Given the description of an element on the screen output the (x, y) to click on. 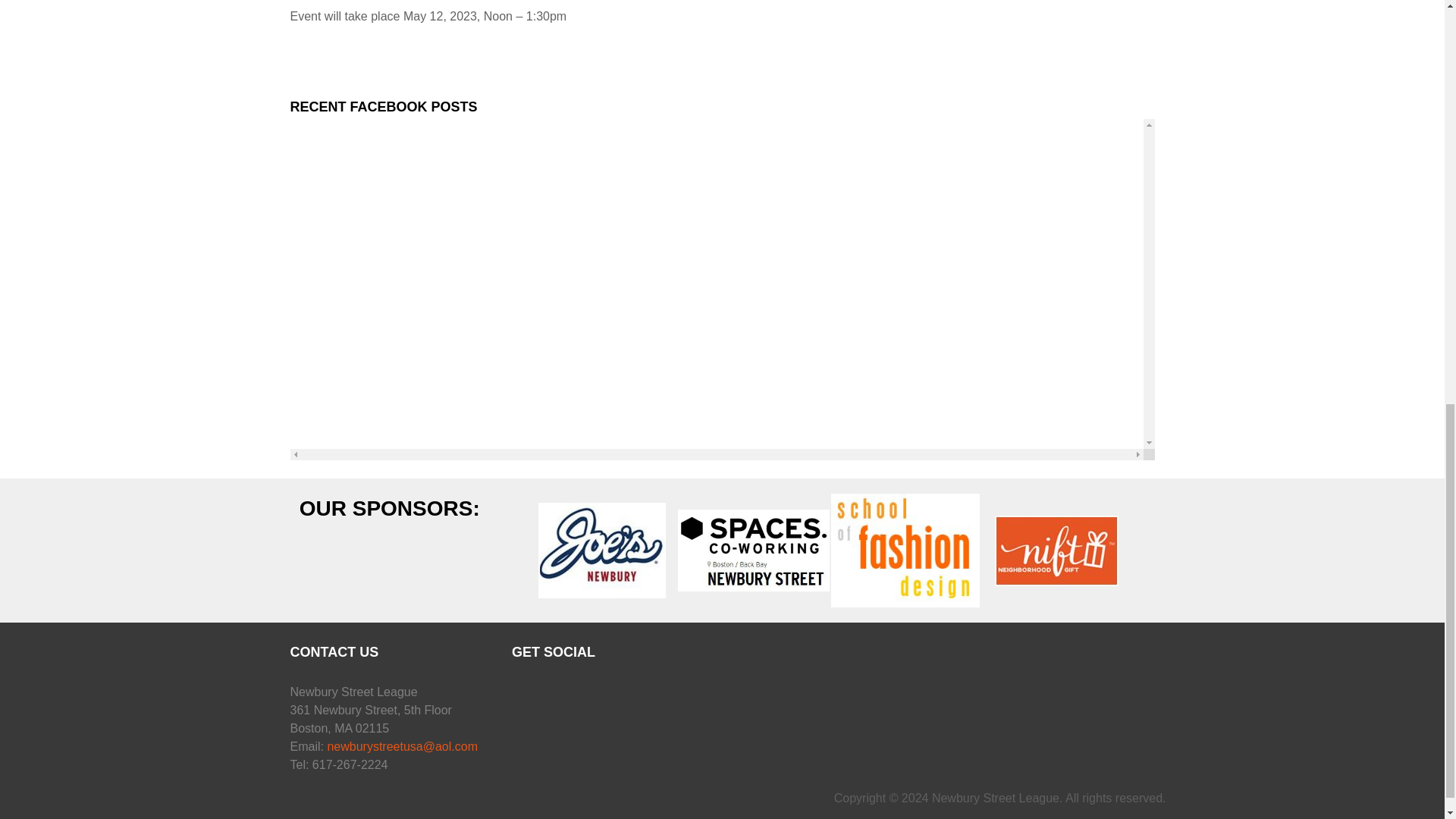
Nift (1056, 550)
Prettyology (449, 551)
School of Fashion Design (905, 550)
Joe's (601, 550)
Spaces (753, 550)
